Given the description of an element on the screen output the (x, y) to click on. 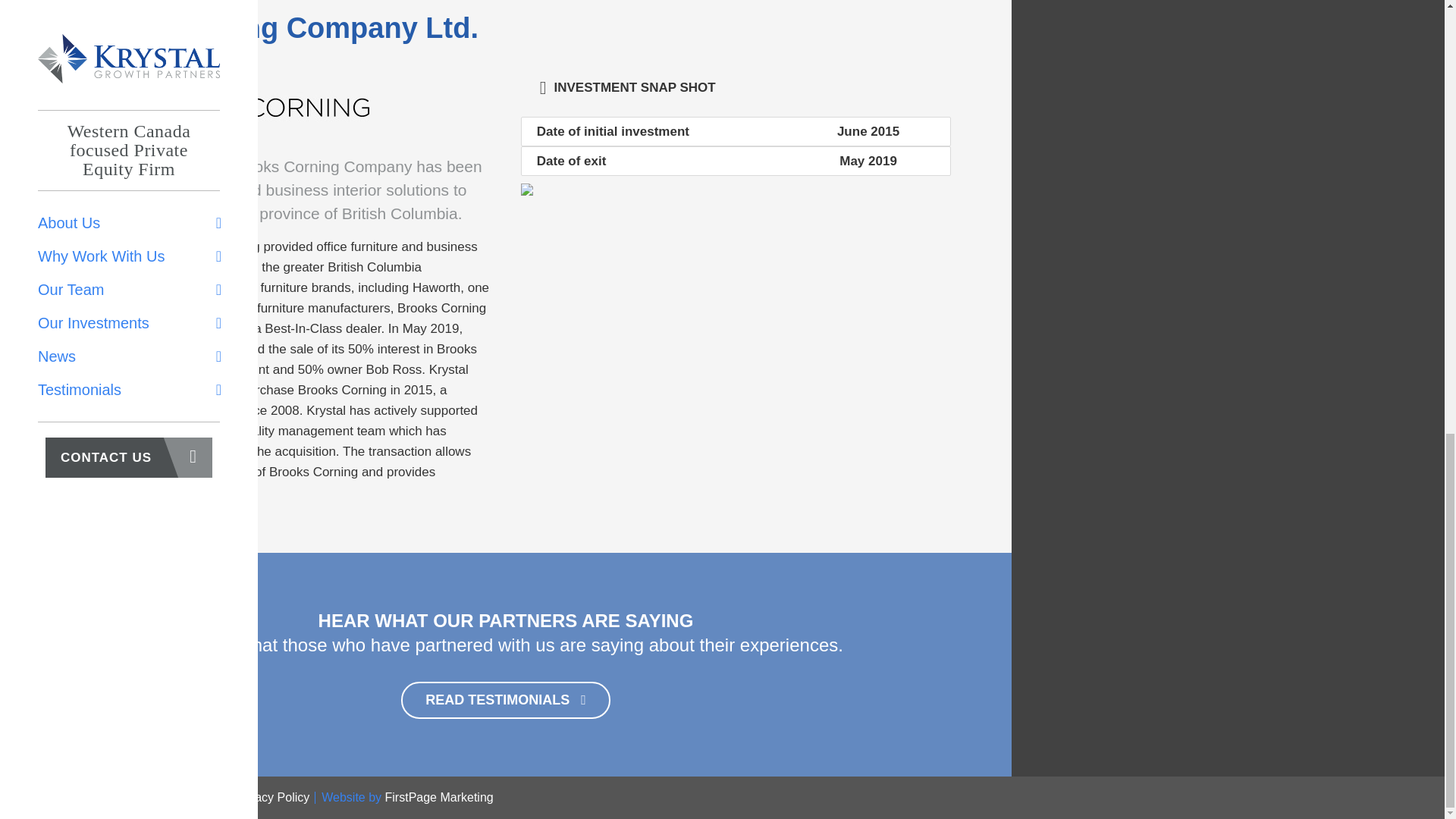
FirstPage Marketing (439, 797)
READ TESTIMONIALS (505, 700)
Privacy Policy (272, 797)
